Given the description of an element on the screen output the (x, y) to click on. 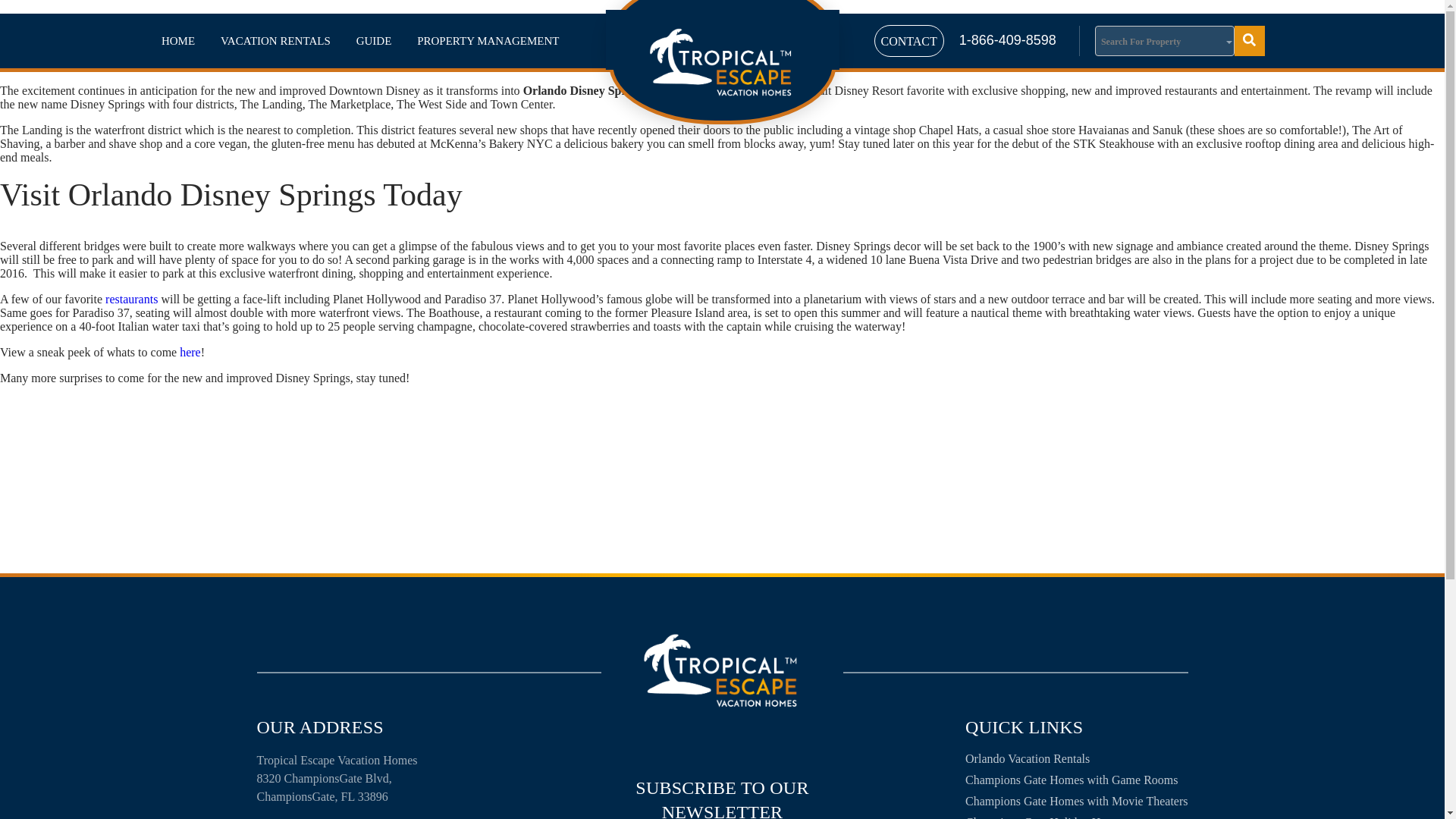
GUIDE (374, 40)
TEVH-White (721, 62)
HOME (177, 40)
VACATION RENTALS (275, 40)
